Given the description of an element on the screen output the (x, y) to click on. 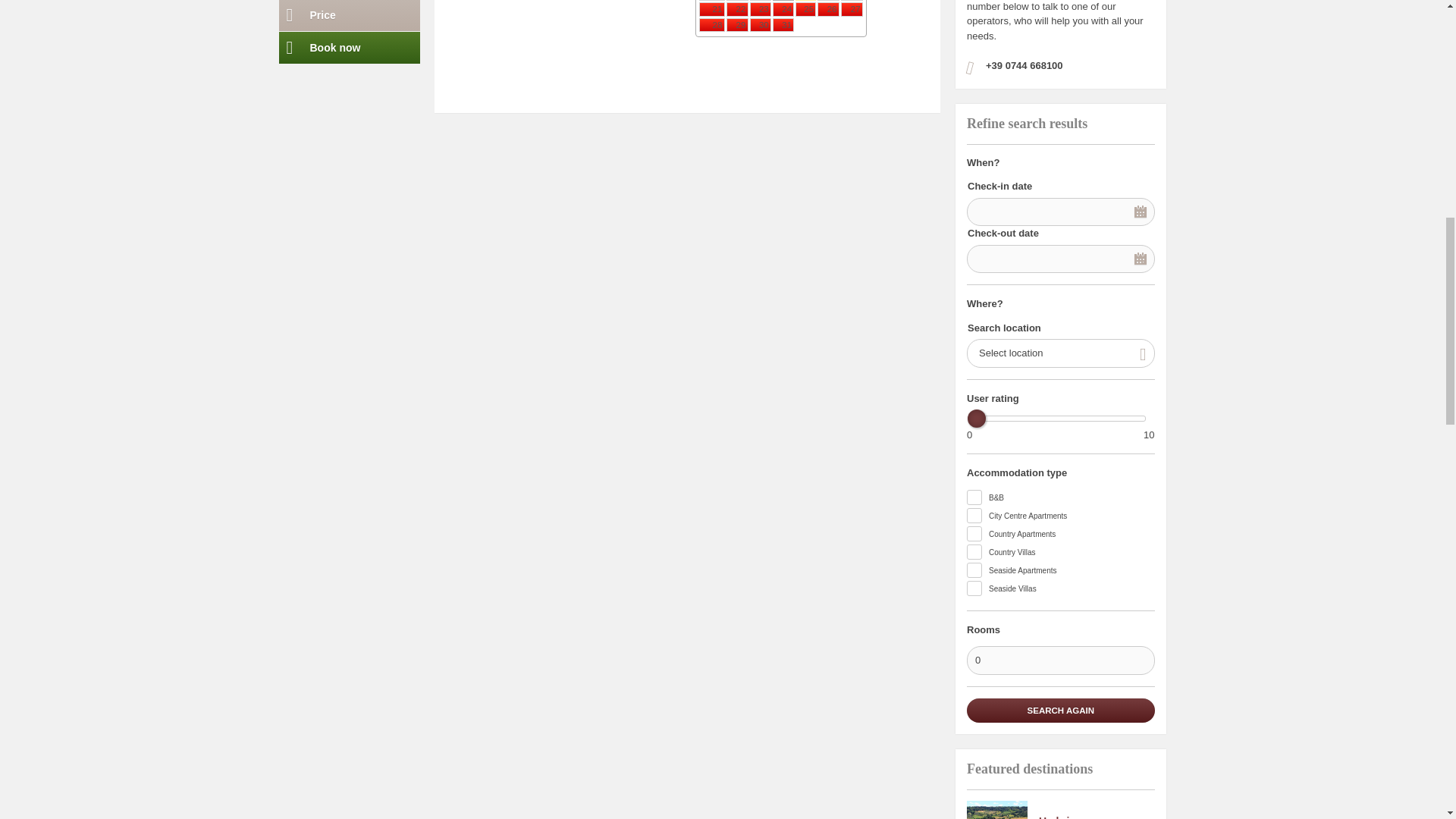
Book now (349, 47)
0 (1060, 660)
Price (349, 15)
Search again (1060, 710)
